Given the description of an element on the screen output the (x, y) to click on. 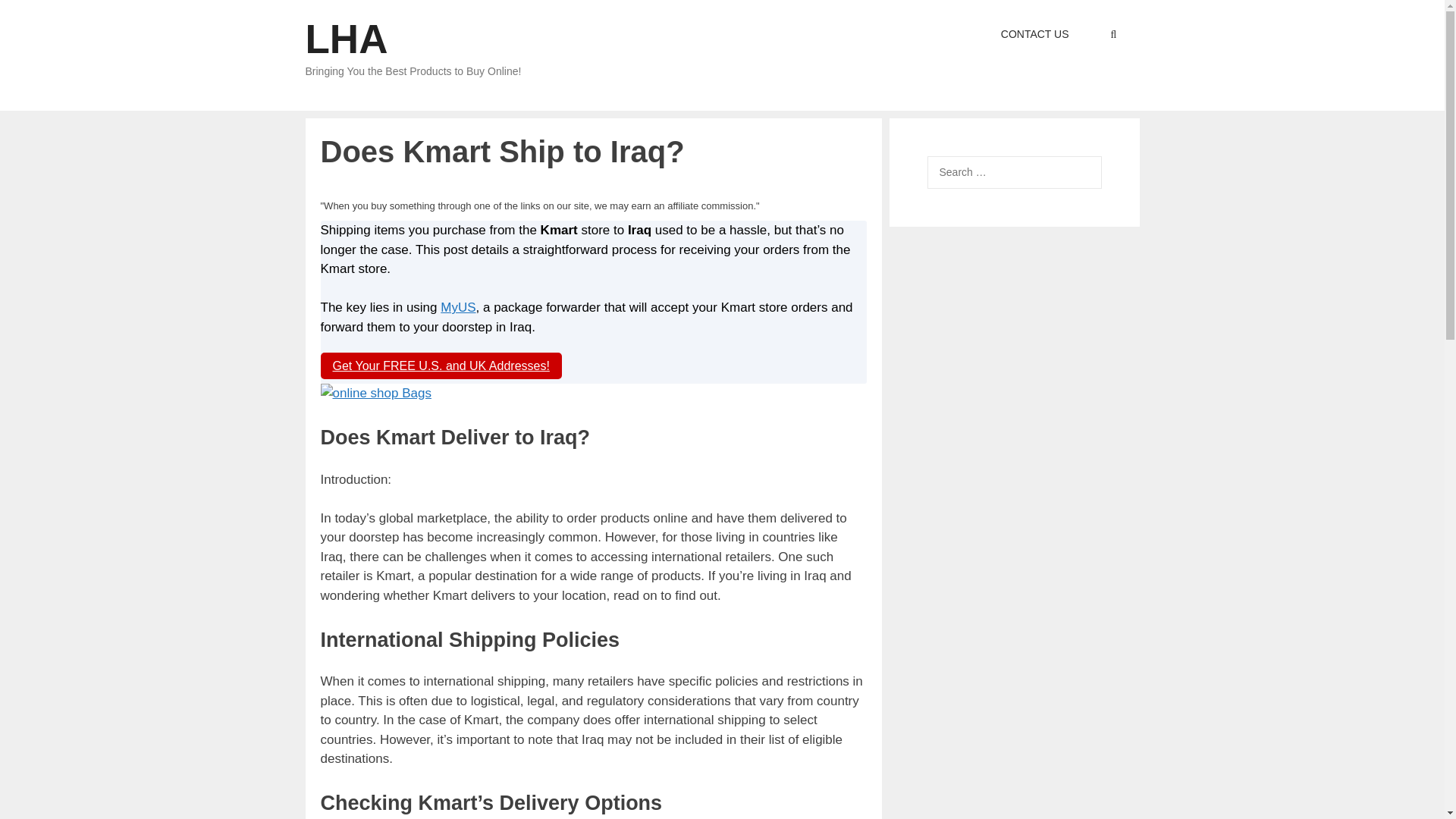
CONTACT US (1034, 34)
MyUS (458, 307)
Search for: (1013, 172)
Get Your FREE U.S. and UK Addresses! (440, 365)
Search (36, 15)
LHA (345, 38)
